Given the description of an element on the screen output the (x, y) to click on. 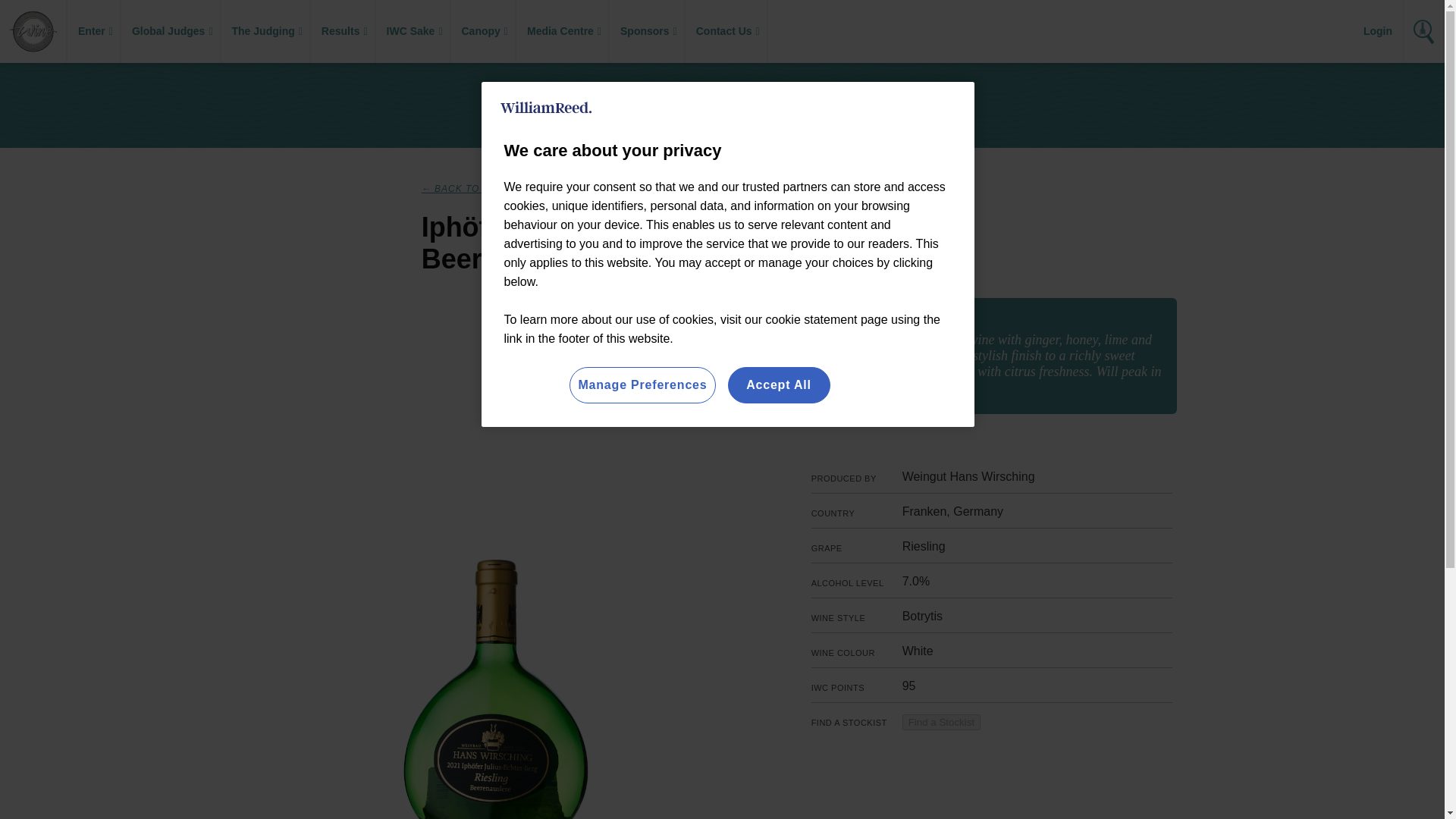
Global Judges (169, 31)
International Wine Challenge (32, 31)
Results (342, 31)
The Judging (264, 31)
William Reed (545, 107)
